Given the description of an element on the screen output the (x, y) to click on. 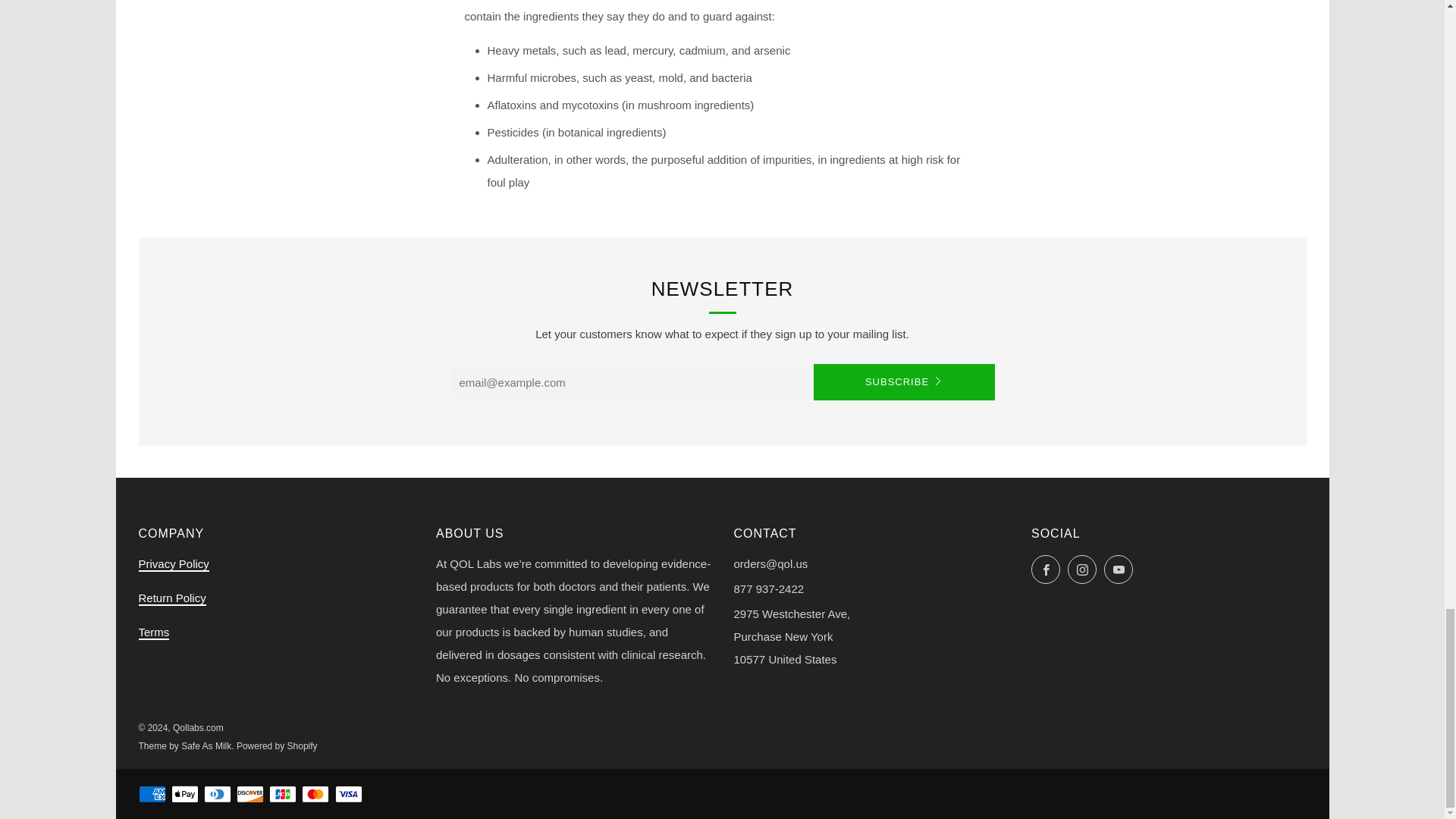
Privacy Policy (173, 564)
Terms (153, 632)
Return (171, 598)
